Given the description of an element on the screen output the (x, y) to click on. 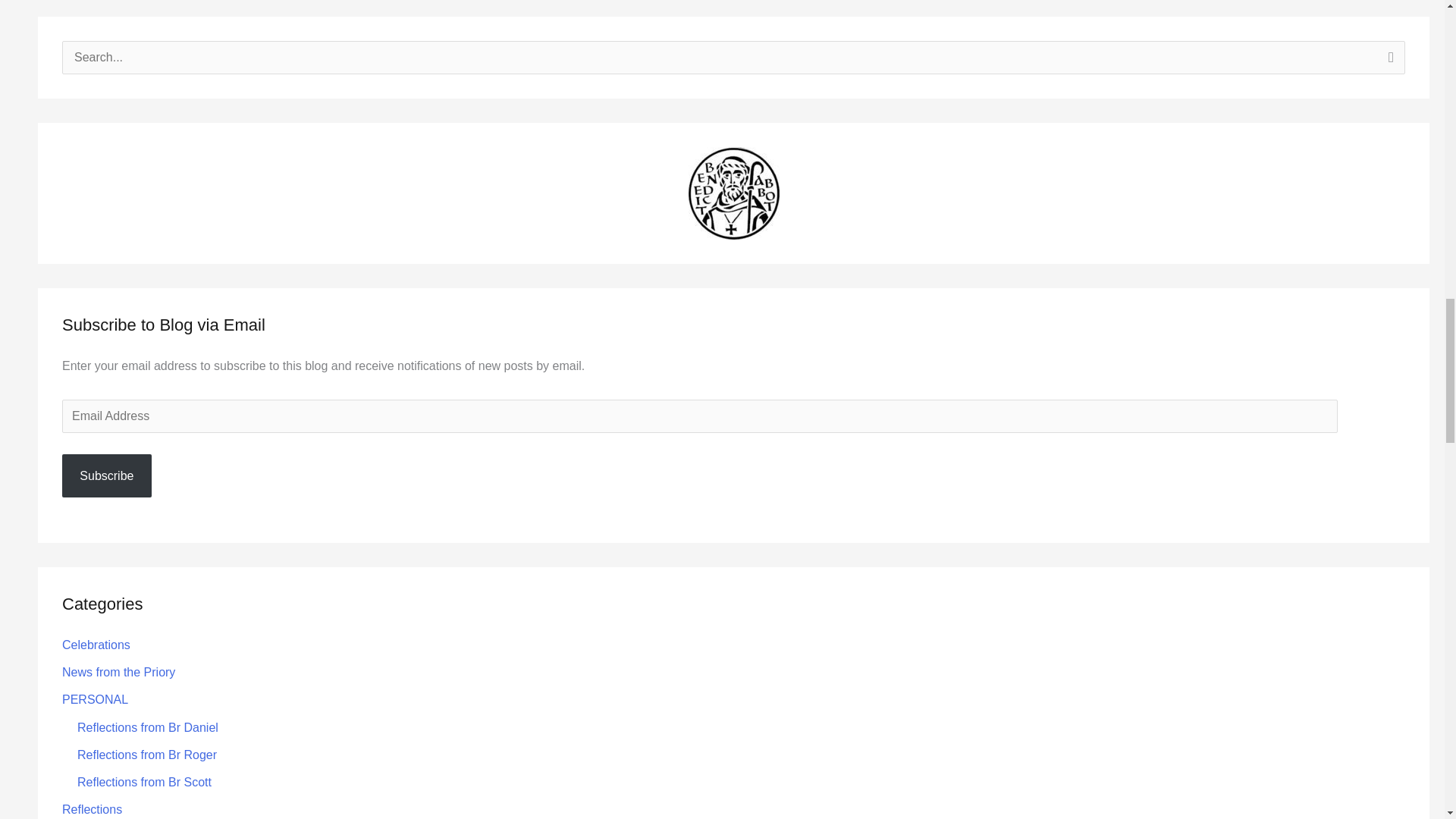
Celebrations (96, 644)
News from the Priory (118, 671)
PERSONAL (95, 698)
Subscribe (106, 475)
